Given the description of an element on the screen output the (x, y) to click on. 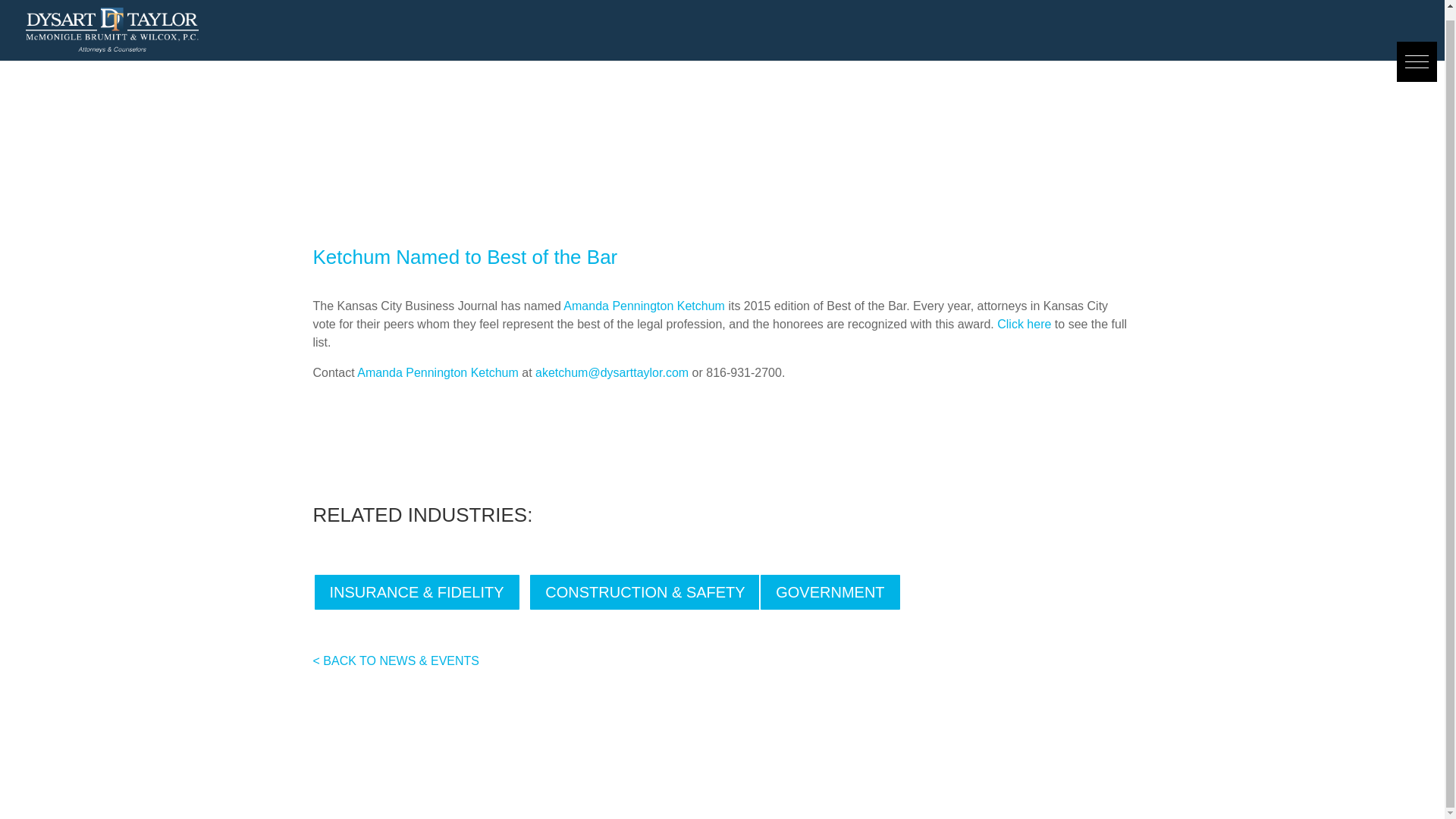
Amanda Pennington Ketchum (437, 372)
Click here (1024, 323)
Search (29, 6)
GOVERNMENT (829, 591)
Amanda Pennington Ketchum (644, 305)
